Given the description of an element on the screen output the (x, y) to click on. 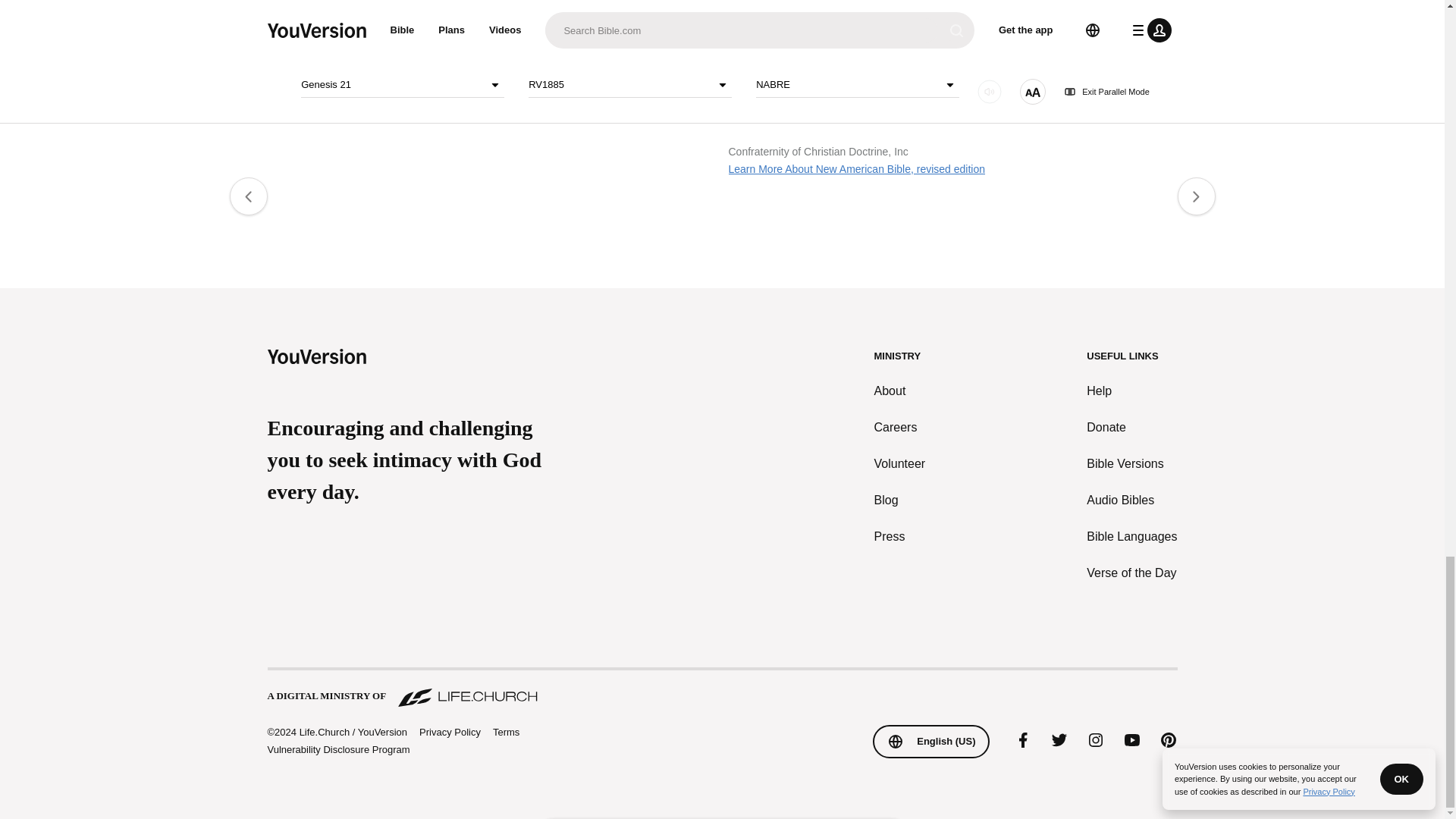
Bible Languages (1131, 536)
Terms (506, 731)
Volunteer (900, 464)
Blog (900, 500)
A DIGITAL MINISTRY OF (721, 688)
Help (1131, 391)
Learn More About New American Bible, revised edition (856, 168)
Careers (900, 427)
Bible Versions (1131, 464)
Learn More About Revised Version 1885 (361, 51)
About (900, 391)
Vulnerability Disclosure Program (337, 749)
Donate (1131, 427)
Audio Bibles (1131, 500)
Verse of the Day (1131, 573)
